Given the description of an element on the screen output the (x, y) to click on. 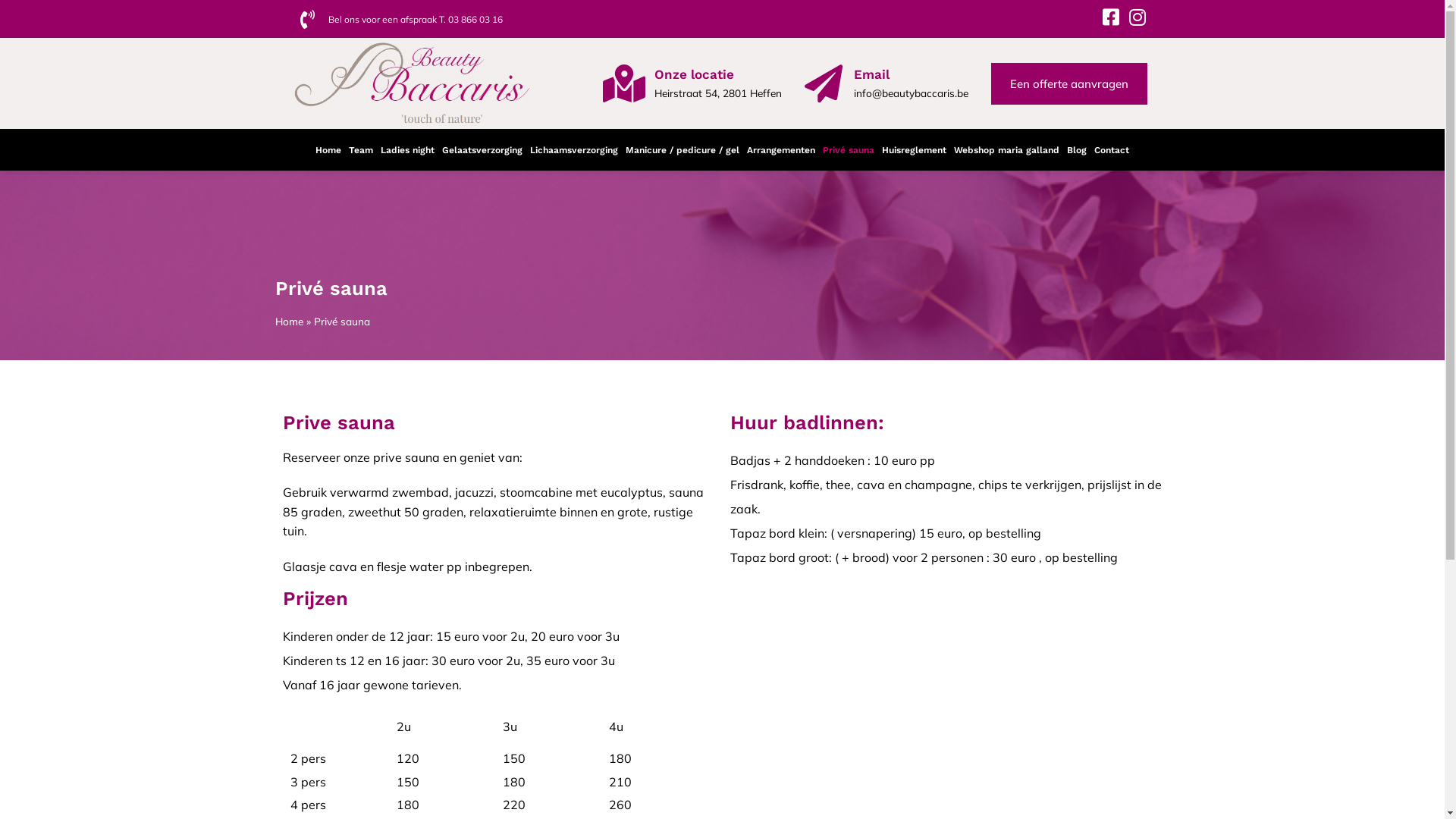
Een offerte aanvragen Element type: text (1068, 83)
Ladies night Element type: text (407, 149)
Gelaatsverzorging Element type: text (482, 149)
Manicure / pedicure / gel Element type: text (682, 149)
Home Element type: text (328, 149)
Onze locatie Element type: text (693, 73)
Webshop maria galland Element type: text (1006, 149)
Arrangementen Element type: text (781, 149)
Email Element type: text (871, 73)
Blog Element type: text (1076, 149)
Lichaamsverzorging Element type: text (573, 149)
Contact Element type: text (1111, 149)
Huisreglement Element type: text (914, 149)
Home Element type: text (288, 320)
Team Element type: text (360, 149)
